Given the description of an element on the screen output the (x, y) to click on. 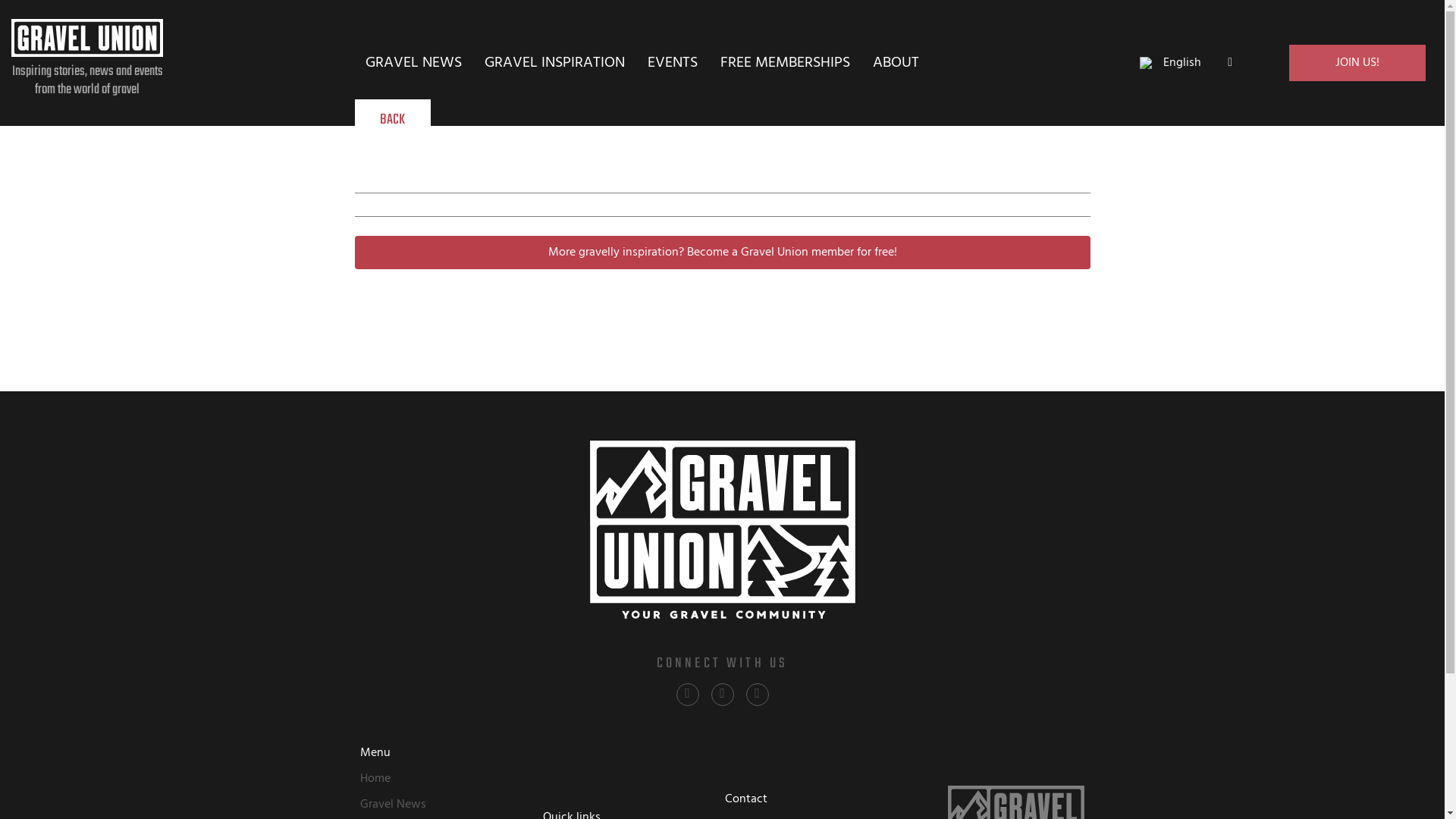
Home Element type: text (448, 778)
Gravel News Element type: text (448, 804)
English Element type: text (1185, 62)
GRAVEL NEWS Element type: text (413, 62)
ABOUT Element type: text (895, 62)
FREE MEMBERSHIPS Element type: text (785, 62)
GRAVEL INSPIRATION Element type: text (554, 62)
JOIN US! Element type: text (1357, 62)
EVENTS Element type: text (672, 62)
